Given the description of an element on the screen output the (x, y) to click on. 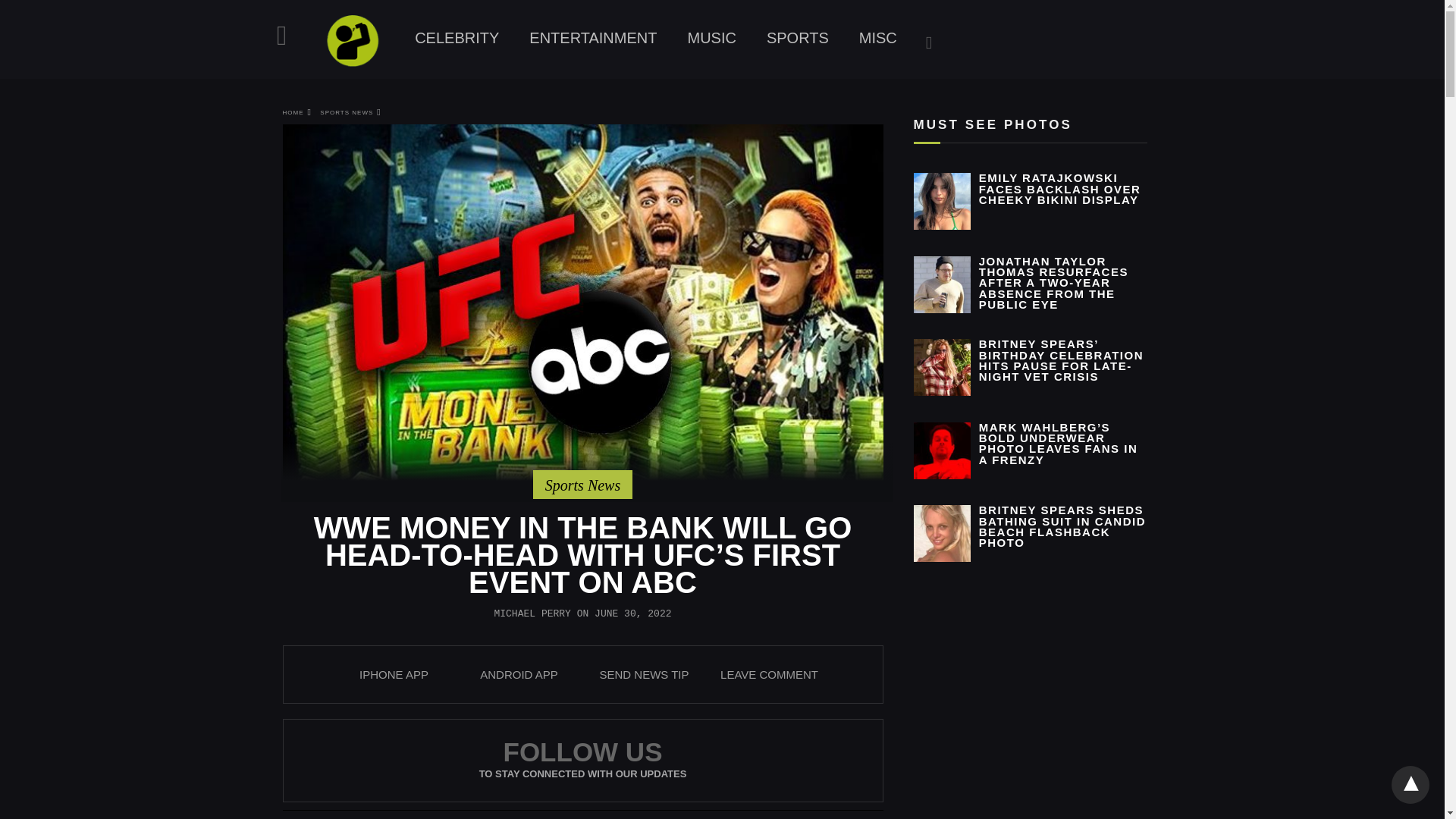
LEAVE COMMENT (769, 674)
Entertainment News (592, 37)
MUSIC (711, 37)
SPORTS NEWS (350, 112)
SEND NEWS TIP (643, 674)
ANDROID APP (518, 674)
CELEBRITY (455, 37)
ENTERTAINMENT (592, 37)
Celebrity News (455, 37)
Sports News (582, 484)
